Given the description of an element on the screen output the (x, y) to click on. 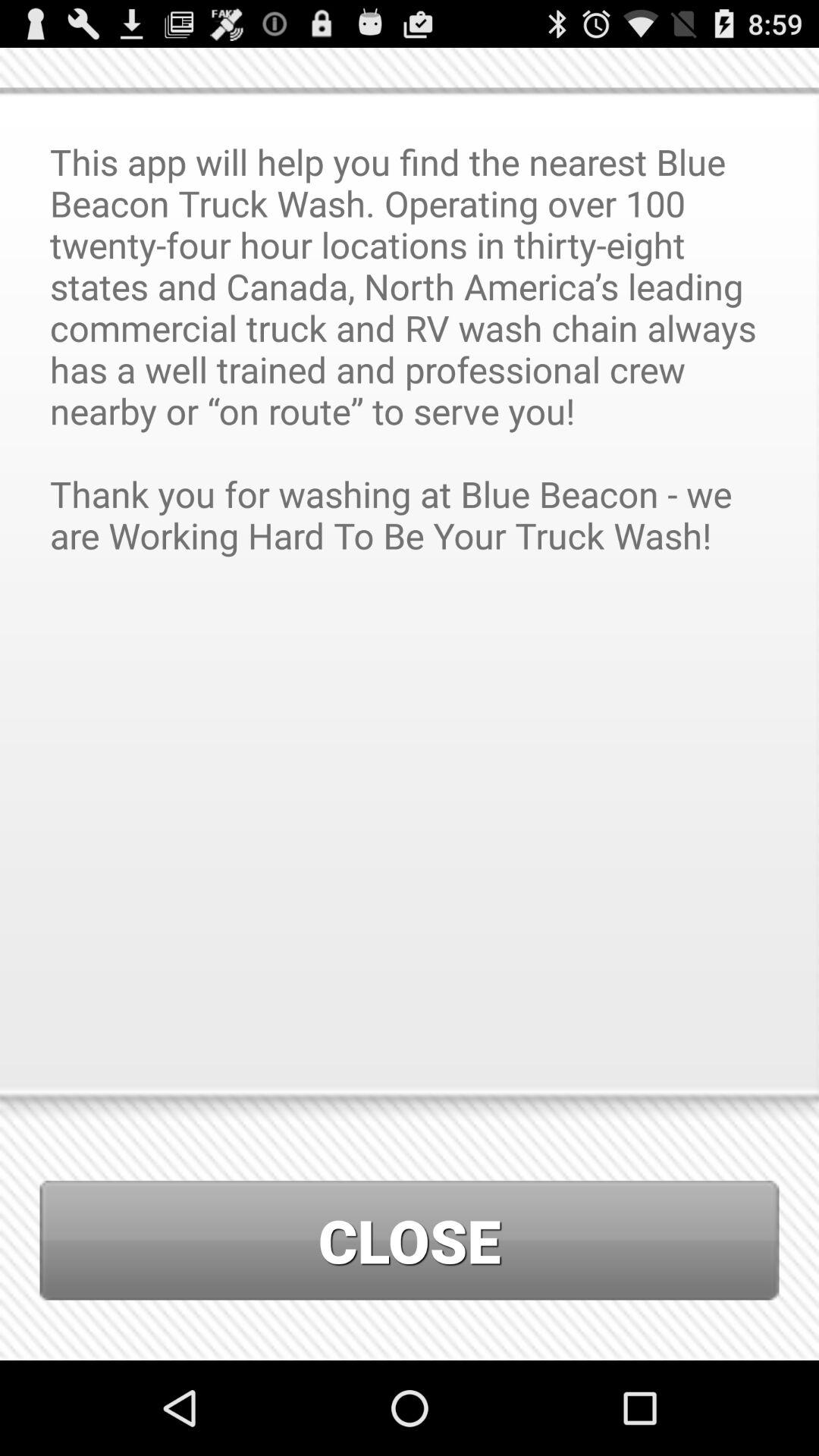
choose close item (409, 1240)
